Given the description of an element on the screen output the (x, y) to click on. 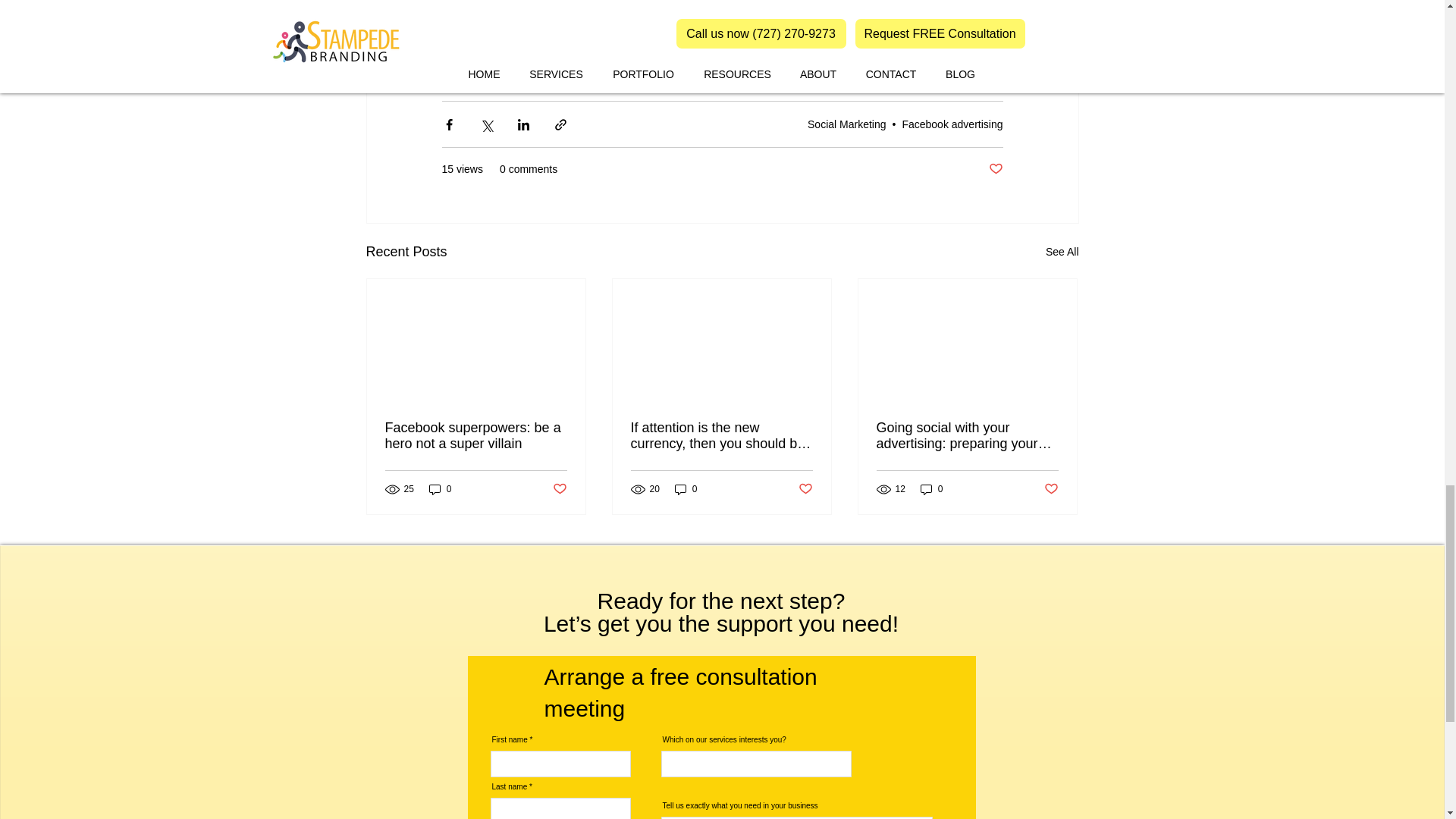
Social Marketing (847, 123)
